Given the description of an element on the screen output the (x, y) to click on. 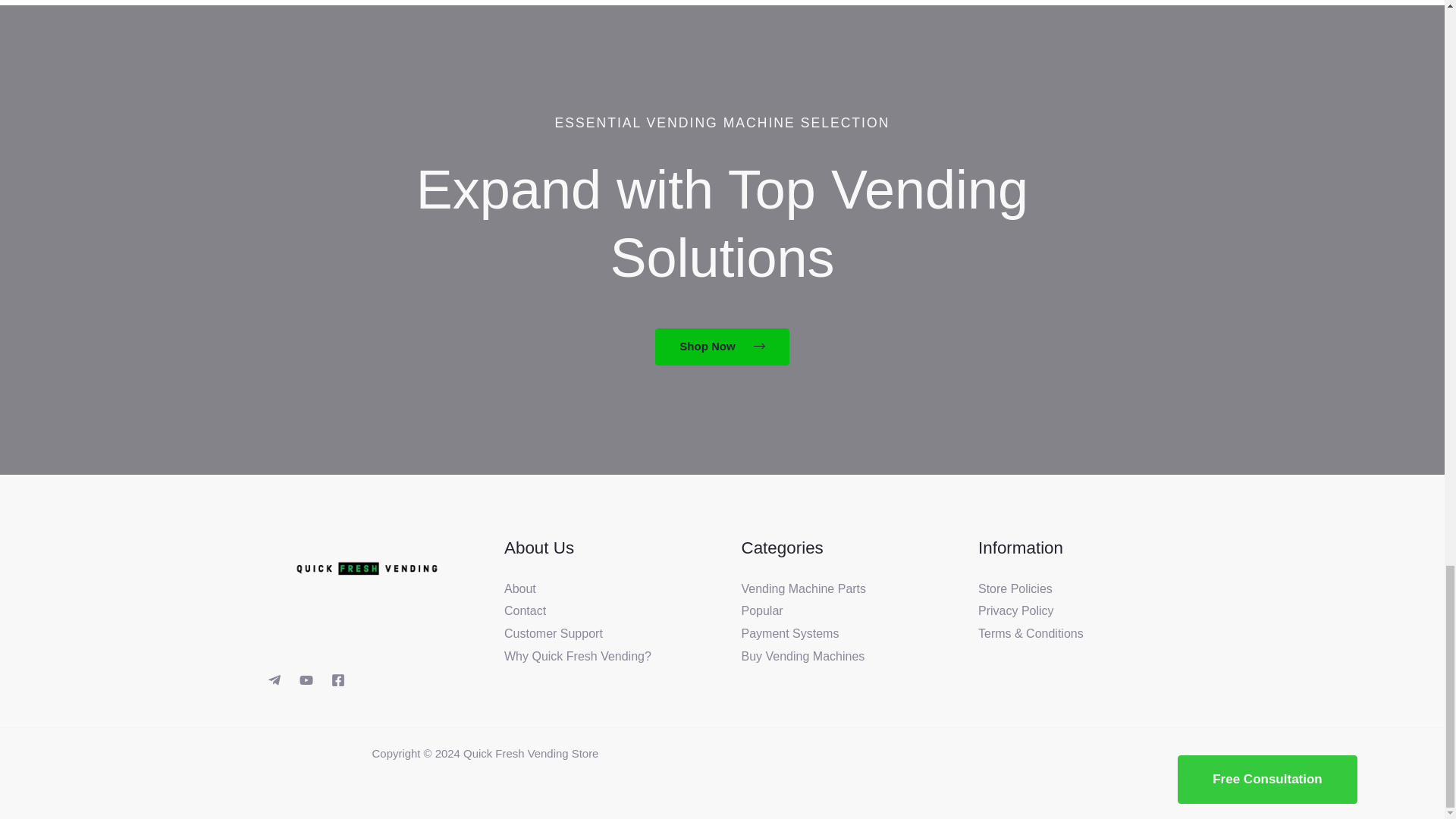
Shop Now (722, 346)
